Given the description of an element on the screen output the (x, y) to click on. 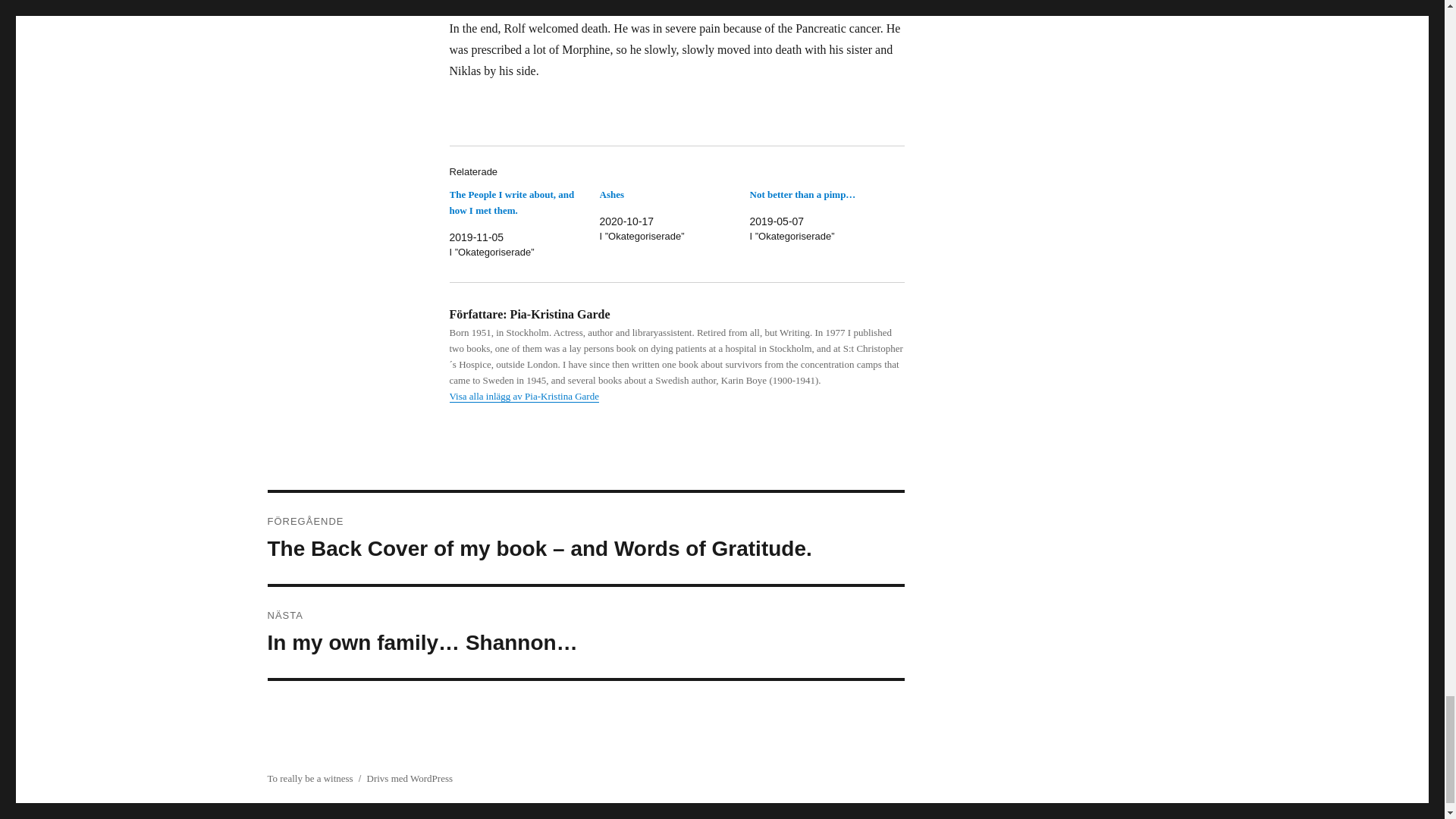
Ashes (611, 194)
The People I write about, and how I met them. (510, 202)
Ashes (611, 194)
The People I write about, and how I met them. (510, 202)
